Given the description of an element on the screen output the (x, y) to click on. 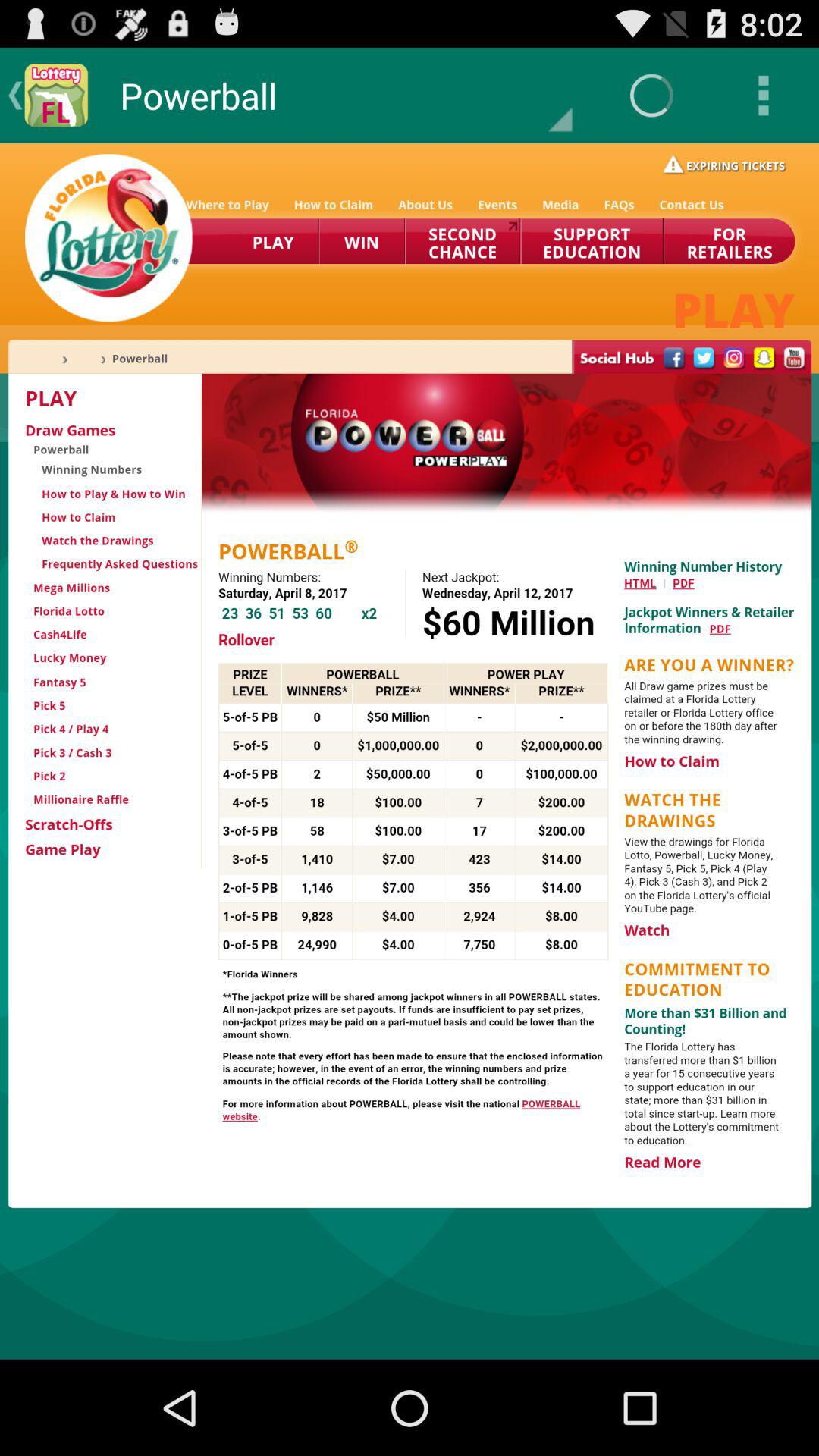
menu area (409, 751)
